Given the description of an element on the screen output the (x, y) to click on. 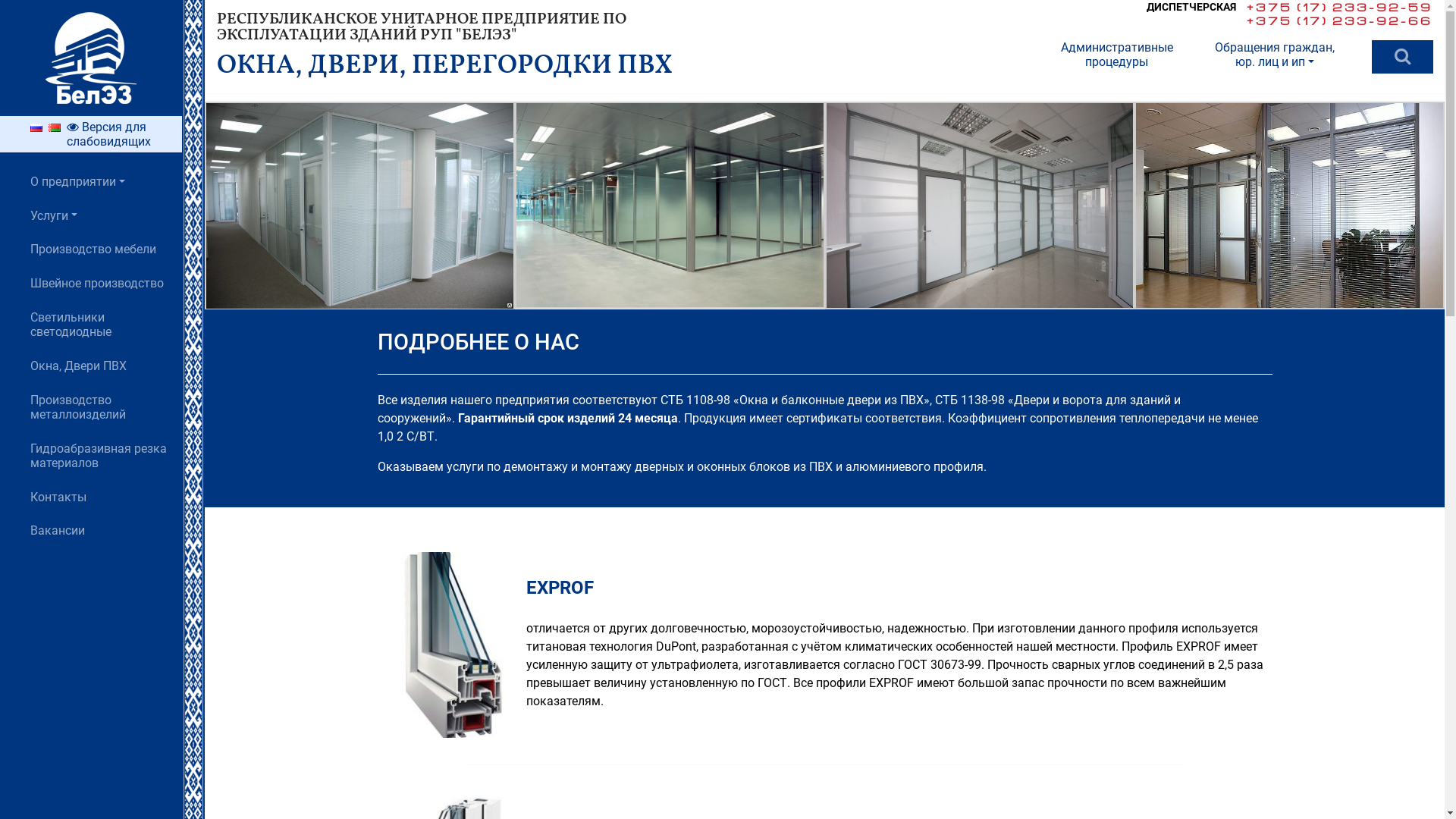
exprof Element type: hover (452, 645)
